Given the description of an element on the screen output the (x, y) to click on. 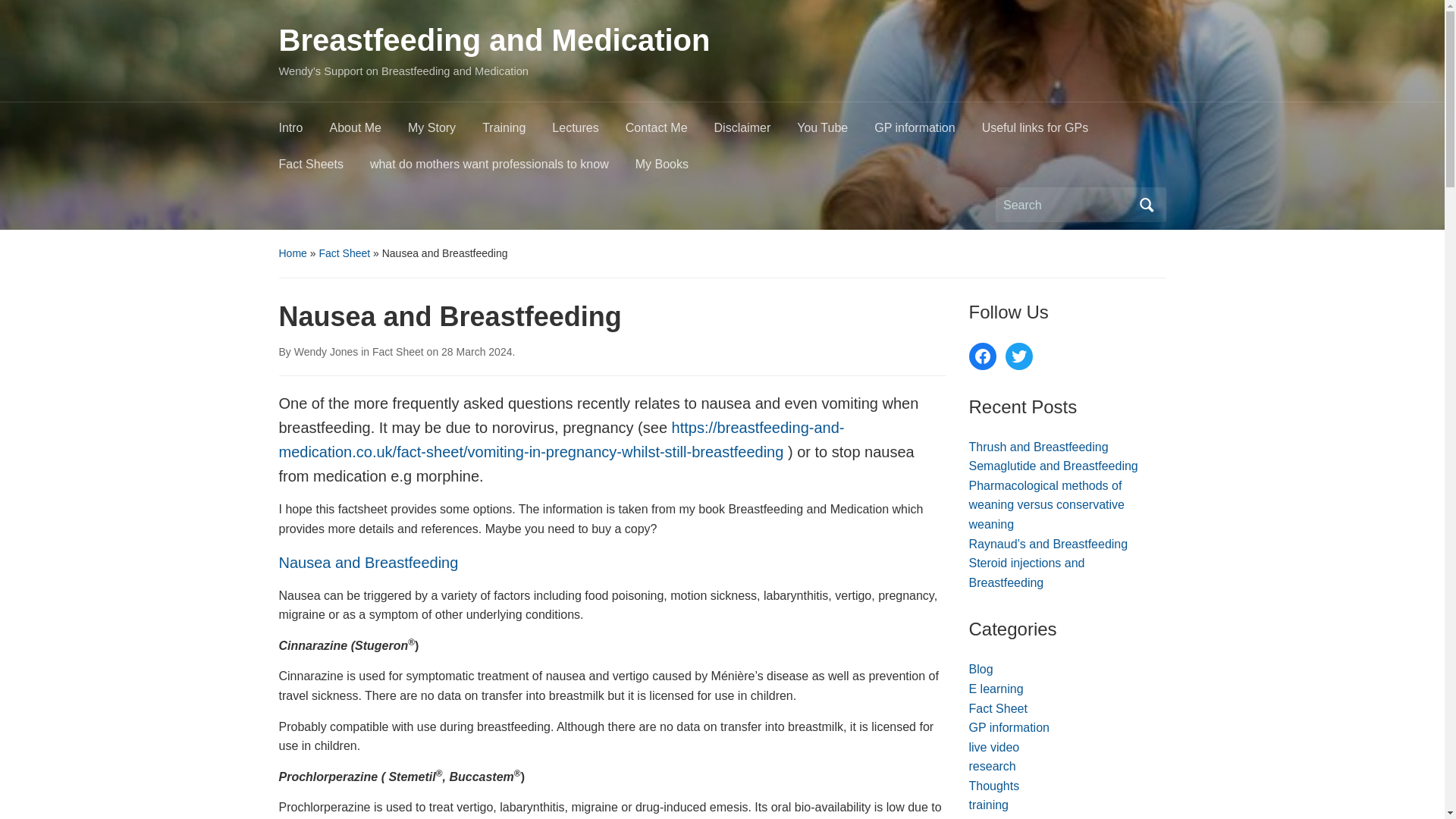
GP information (928, 131)
Breastfeeding and Medication (494, 39)
Home (293, 253)
Intro (304, 131)
Useful links for GPs (1048, 131)
Nausea and Breastfeeding (368, 562)
Wendy Jones (326, 351)
Fact Sheet (397, 351)
About Me (368, 131)
Contact Me (670, 131)
Disclaimer (755, 131)
what do mothers want professionals to know (501, 168)
View all posts by Wendy Jones (326, 351)
Fact Sheet (343, 253)
Facebook (982, 356)
